Given the description of an element on the screen output the (x, y) to click on. 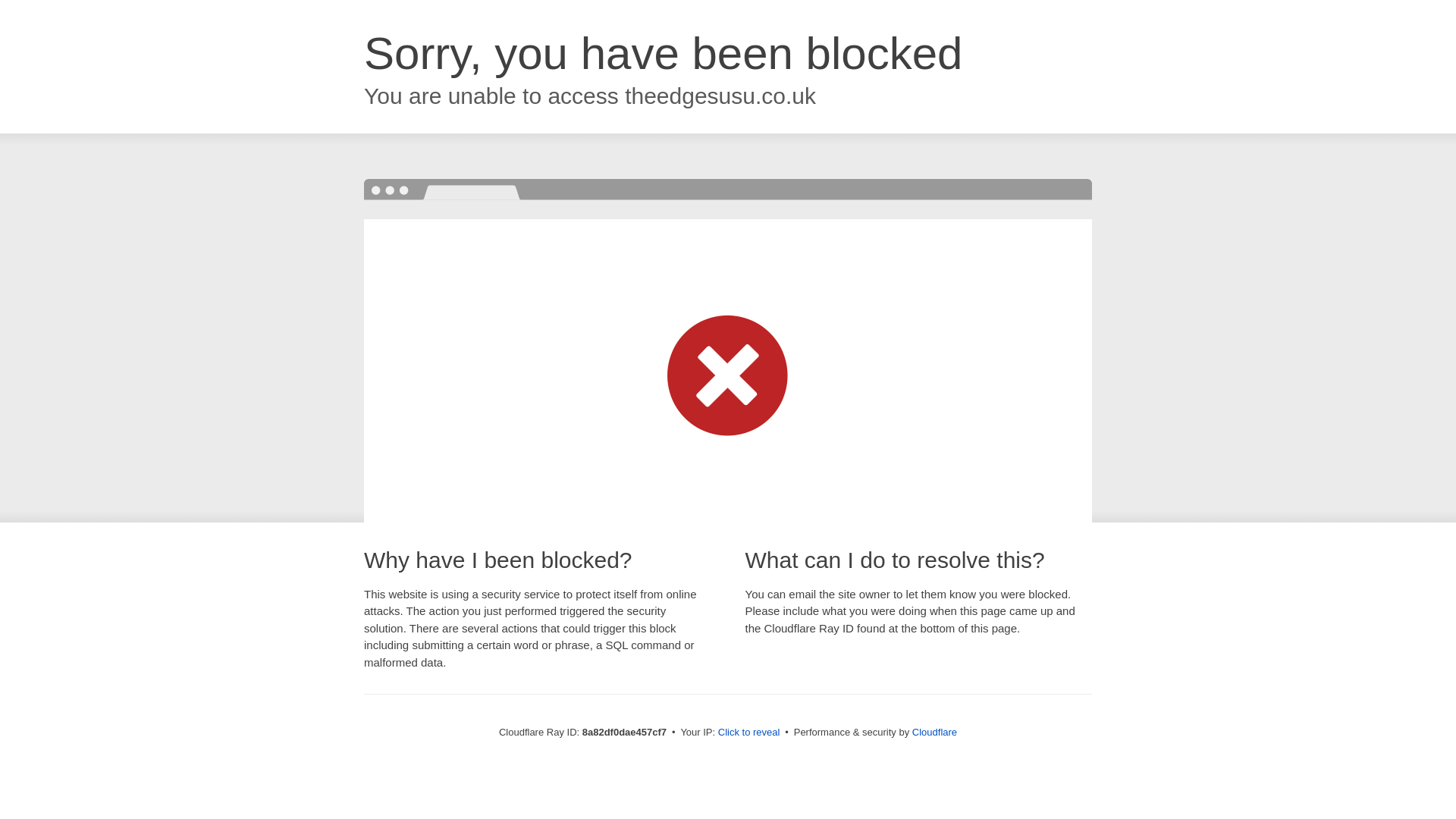
Cloudflare (934, 731)
Click to reveal (748, 732)
